Given the description of an element on the screen output the (x, y) to click on. 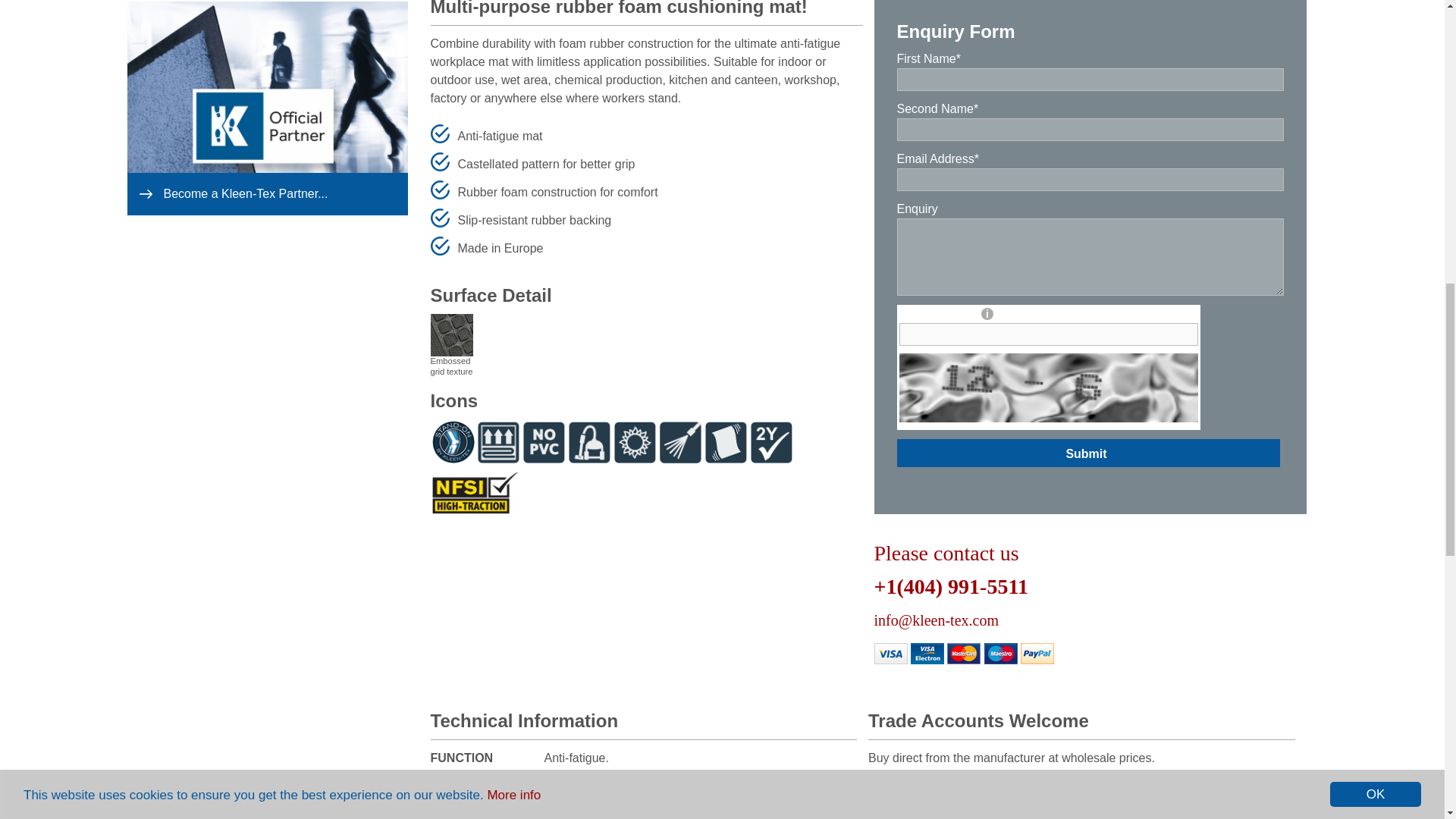
Shaking recommended (726, 442)
PVC free (544, 442)
Visa (890, 653)
Vacuum clean (589, 442)
Opens window for sending email (935, 619)
Suitable for underfloor heating (498, 442)
Stand On Mat (453, 442)
Hose to clean (680, 442)
Embossed grid texture (451, 317)
National Floor Safety Institute (474, 492)
Partner (267, 193)
2 Year Guarantee (771, 442)
Submit (1086, 452)
Partner (267, 10)
Light fast (635, 442)
